Given the description of an element on the screen output the (x, y) to click on. 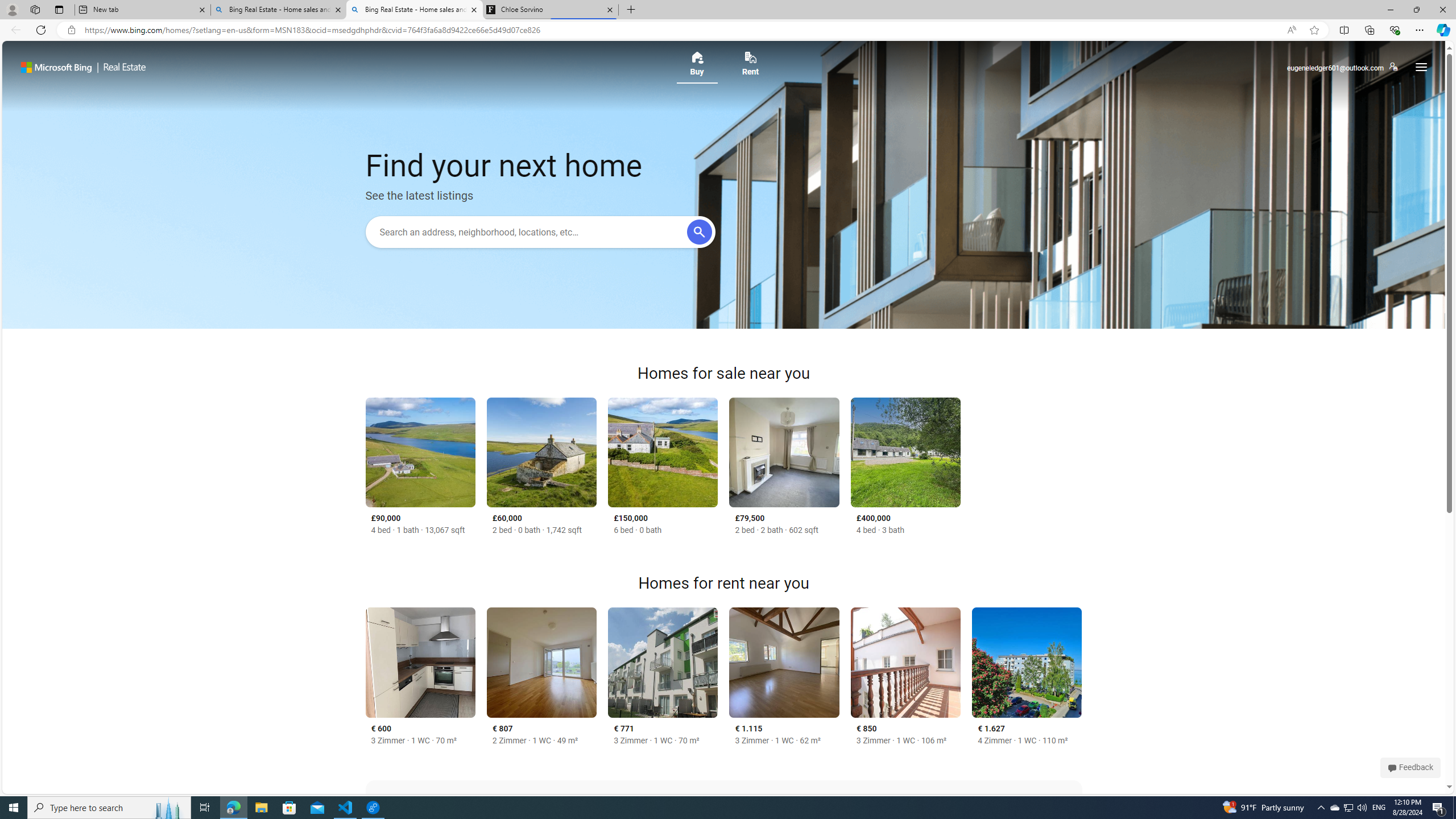
Bing Real Estate - Home sales and rental listings (414, 9)
Chloe Sorvino (550, 9)
eugeneledger601@outlook.com (1342, 67)
